Given the description of an element on the screen output the (x, y) to click on. 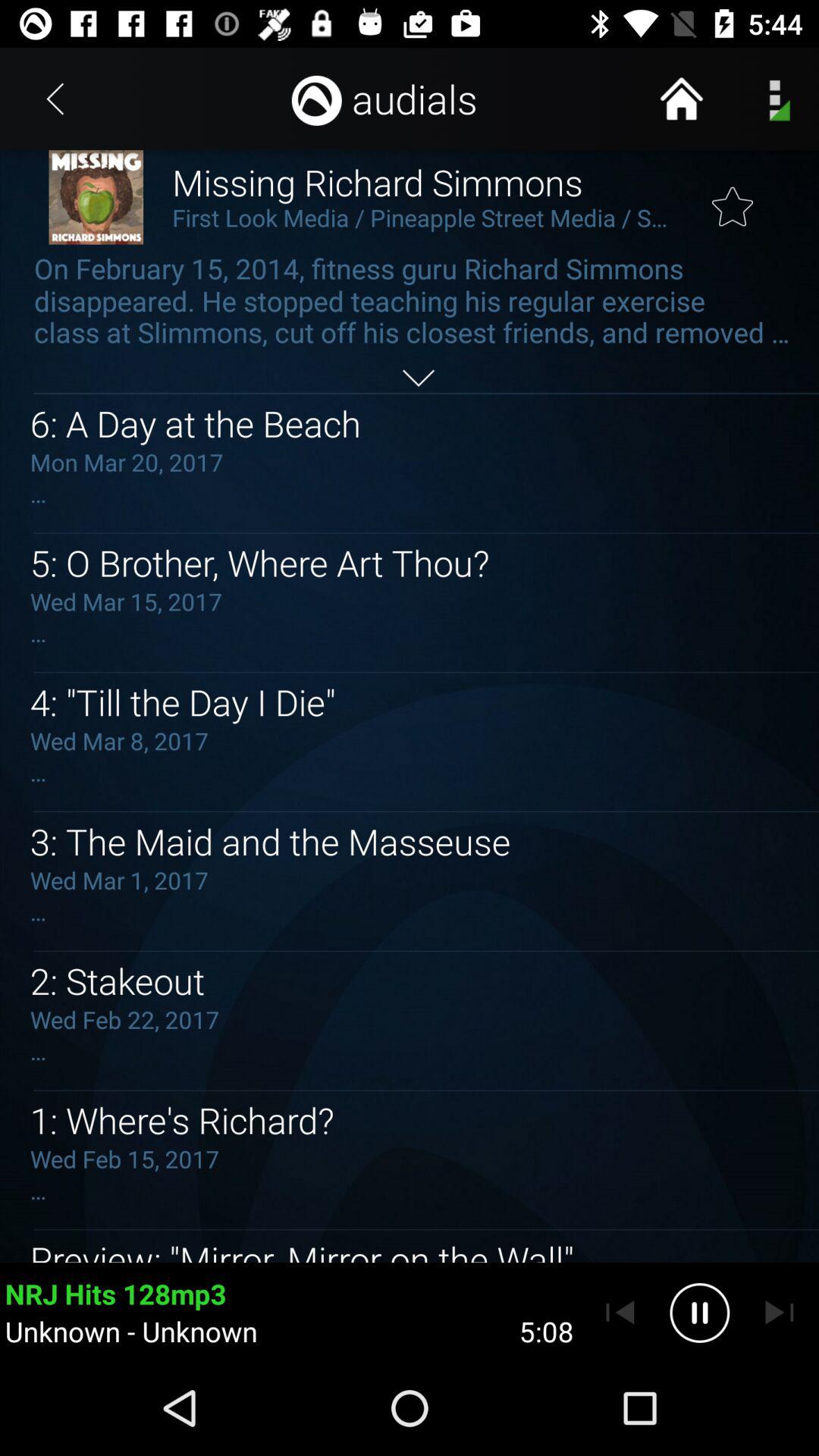
play next (779, 1312)
